Given the description of an element on the screen output the (x, y) to click on. 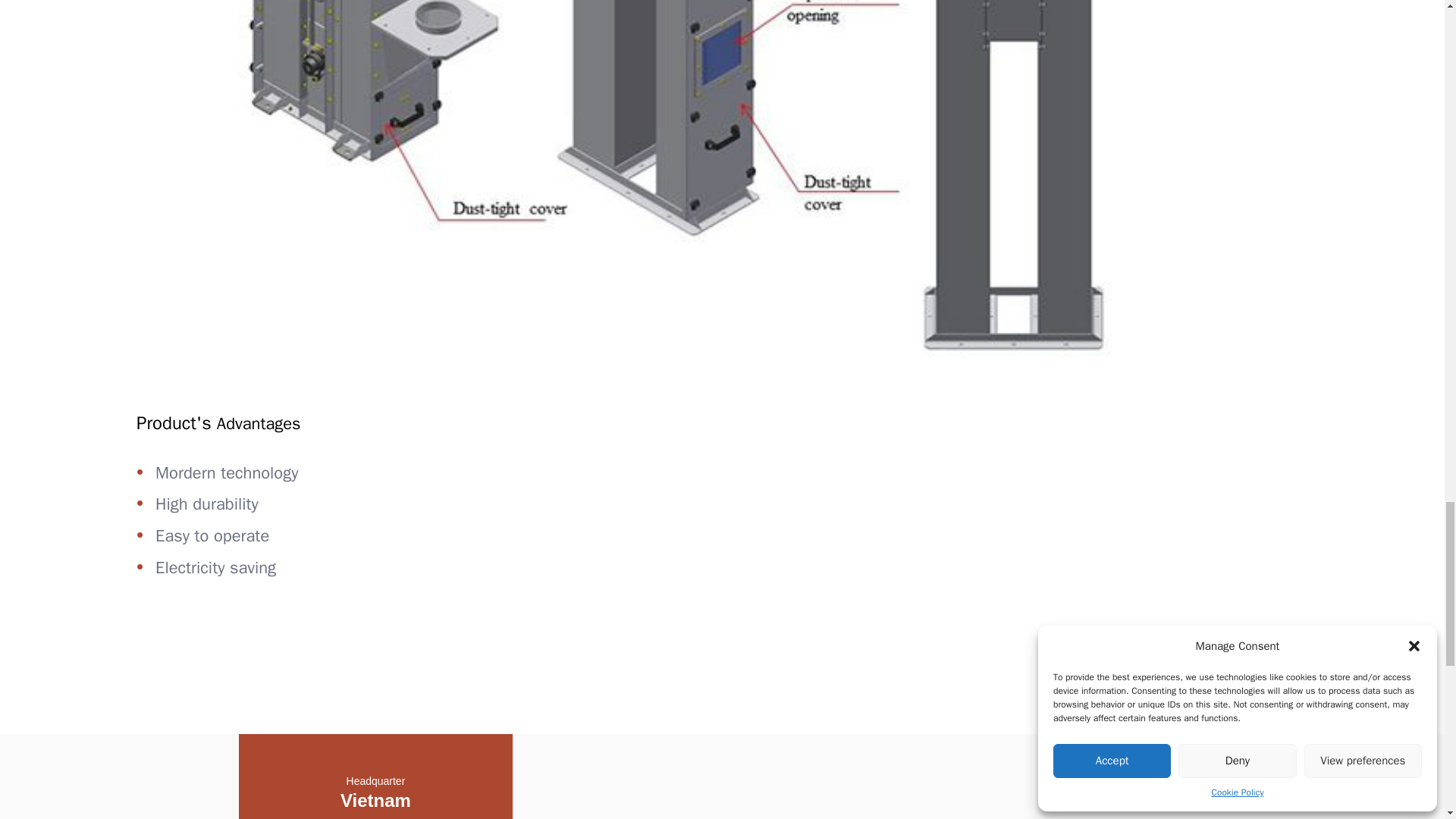
Google Map (858, 776)
